Given the description of an element on the screen output the (x, y) to click on. 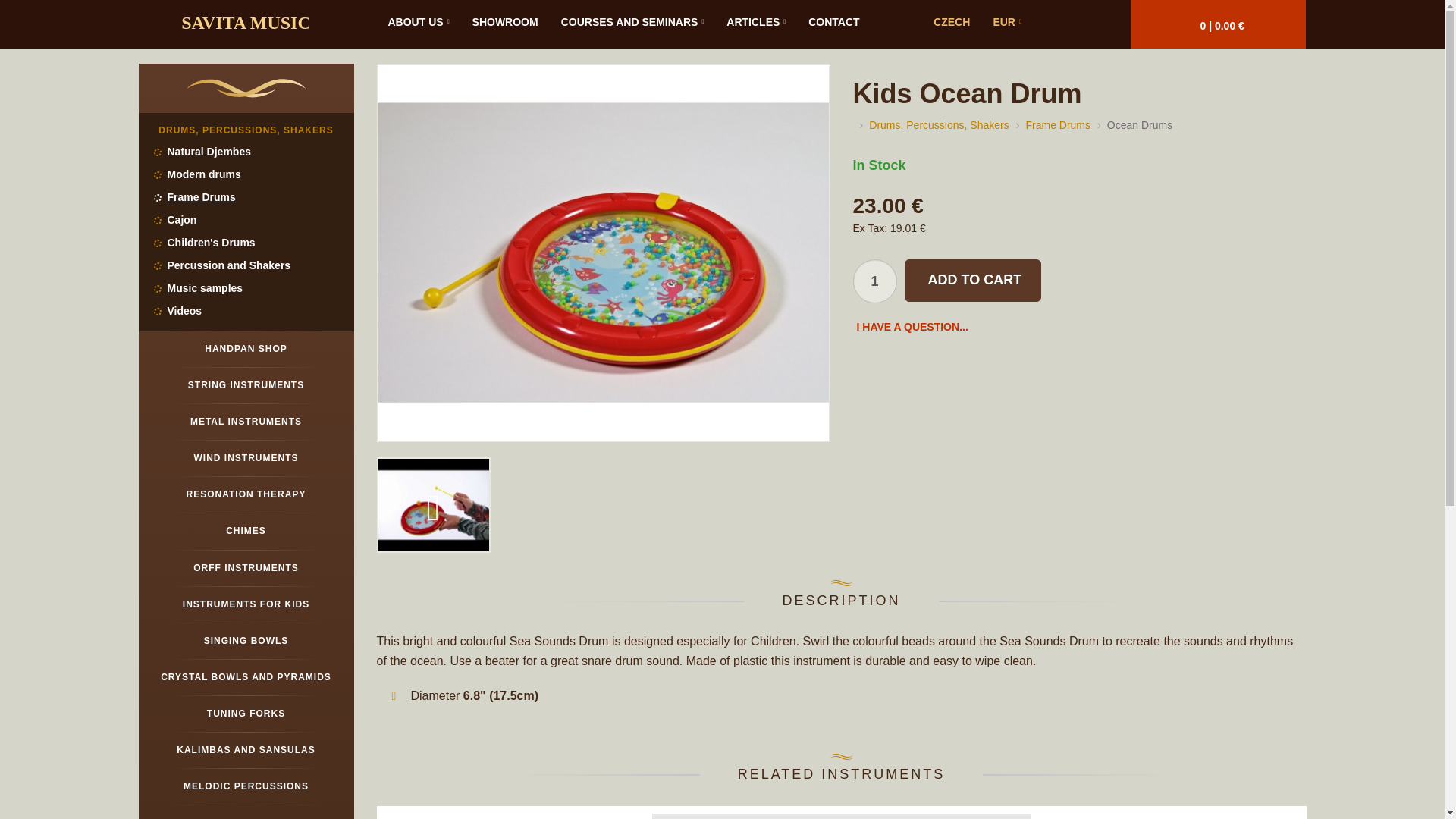
Children's Drums (245, 242)
COURSES AND SEMINARS (633, 22)
Percussion and Shakers (245, 265)
Music samples (245, 288)
Natural Djembes (245, 151)
Cajon (245, 220)
SAVITA MUSIC (245, 22)
ABOUT US (417, 22)
CONTACT (833, 22)
CZECH (951, 22)
